Given the description of an element on the screen output the (x, y) to click on. 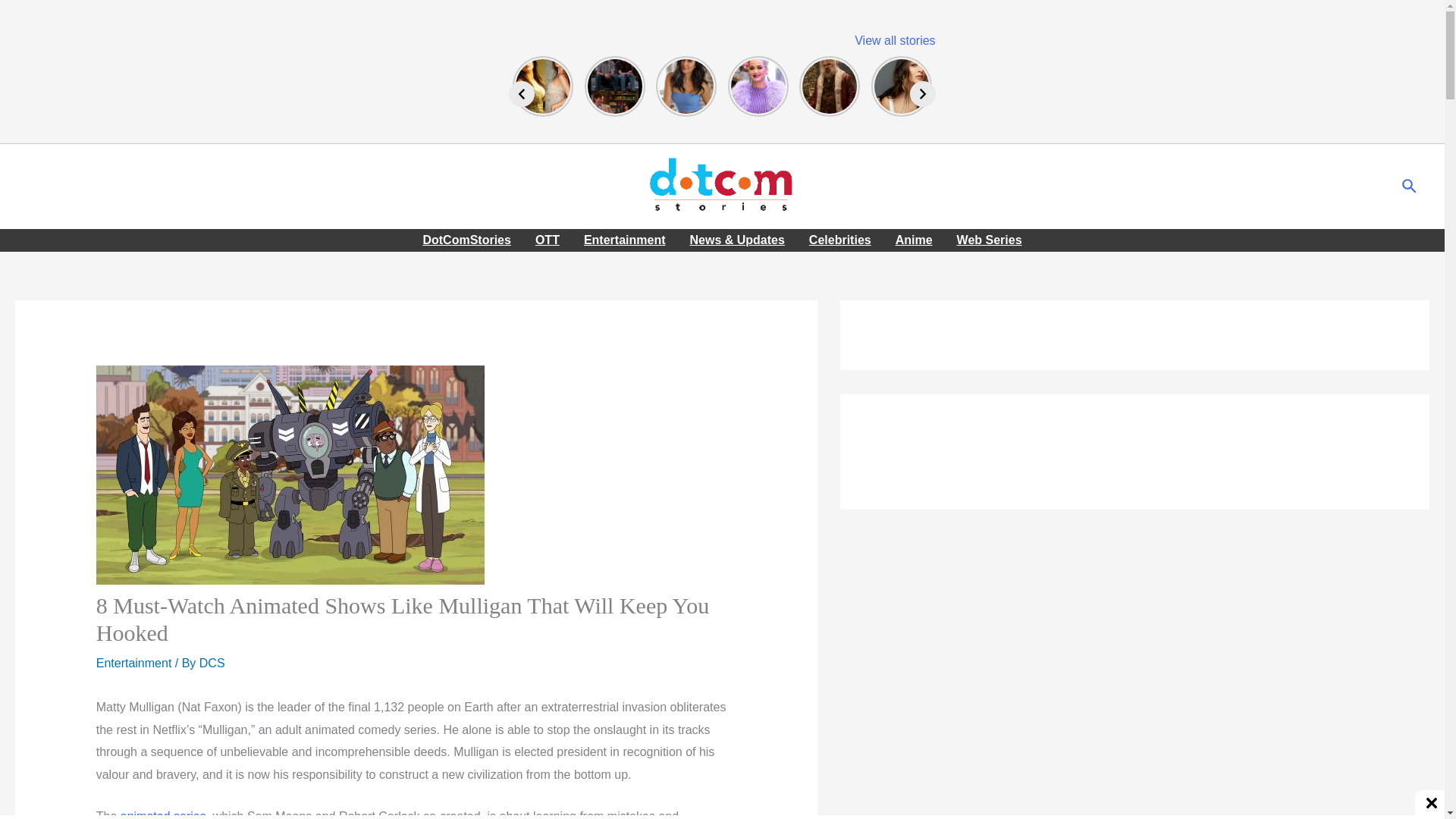
Entertainment (133, 662)
Search (1410, 187)
animated series (163, 814)
Celebrities (839, 240)
Entertainment (625, 240)
View all stories (894, 40)
OTT (547, 240)
DotComStories (466, 240)
Anime (913, 240)
View all posts by DCS (212, 662)
Web Series (988, 240)
DCS (212, 662)
